Given the description of an element on the screen output the (x, y) to click on. 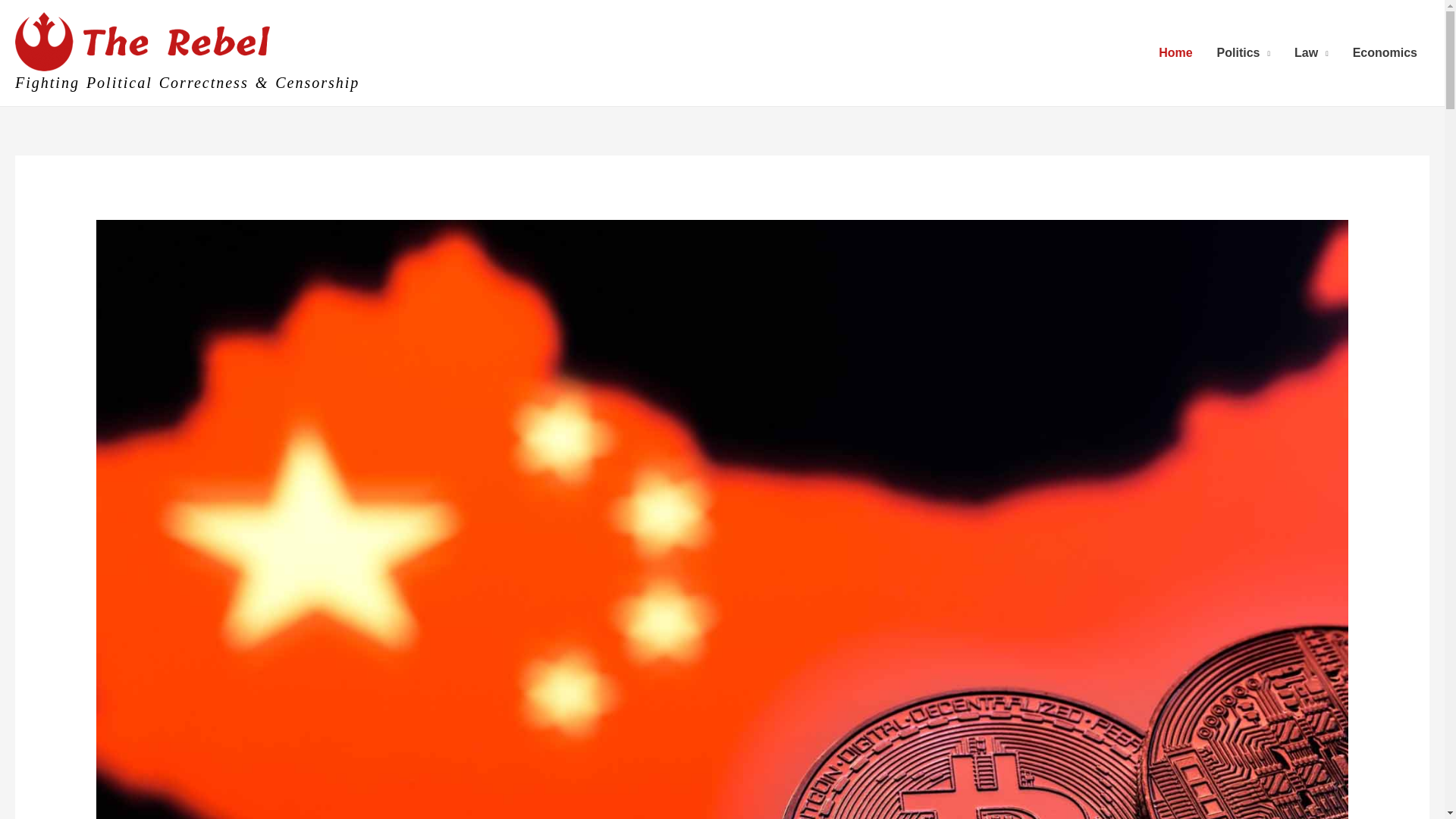
Politics (1243, 52)
Law (1311, 52)
Economics (1384, 52)
Home (1175, 52)
